Given the description of an element on the screen output the (x, y) to click on. 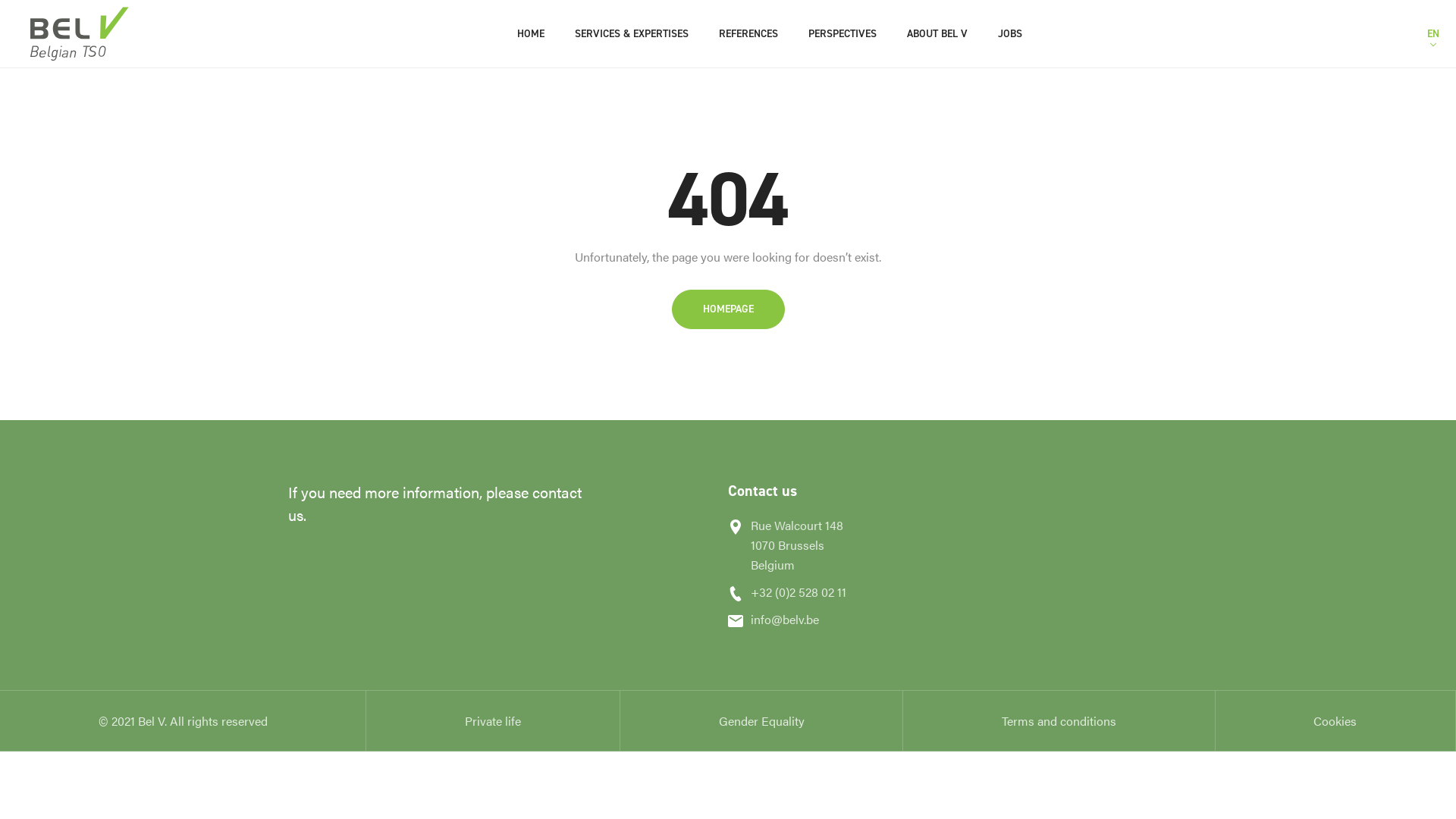
Cookies Element type: text (1334, 719)
HOMEPAGE Element type: text (727, 309)
SERVICES & EXPERTISES Element type: text (631, 34)
JOBS Element type: text (1009, 34)
REFERENCES Element type: text (748, 34)
HOME Element type: text (530, 34)
Private life Element type: text (492, 719)
Terms and conditions Element type: text (1058, 719)
Gender Equality Element type: text (761, 719)
info@belv.be Element type: text (830, 619)
+32 (0)2 528 02 11 Element type: text (830, 592)
PERSPECTIVES Element type: text (842, 34)
Rue Walcourt 148
1070 Brussels
Belgium Element type: text (830, 544)
ABOUT BEL V Element type: text (936, 34)
